Given the description of an element on the screen output the (x, y) to click on. 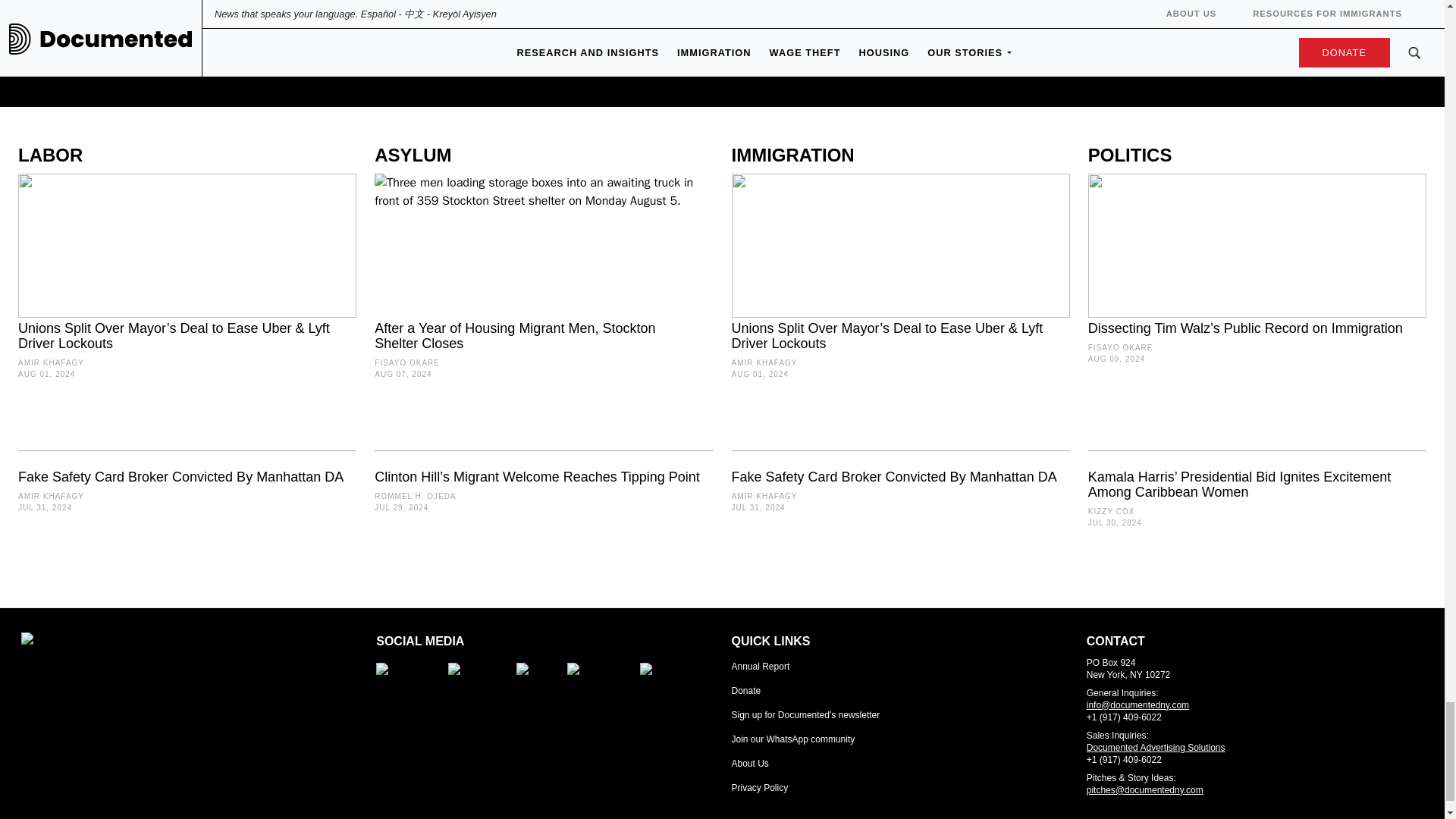
Posts by Amir Khafagy (763, 362)
Posts by Fisayo Okare (406, 362)
Posts by Fisayo Okare (1120, 347)
Posts by Amir Khafagy (763, 496)
Posts by Amir Khafagy (50, 496)
Posts by Kizzy Cox (1111, 510)
Posts by Rommel H. Ojeda (414, 496)
Posts by Amir Khafagy (50, 362)
